Given the description of an element on the screen output the (x, y) to click on. 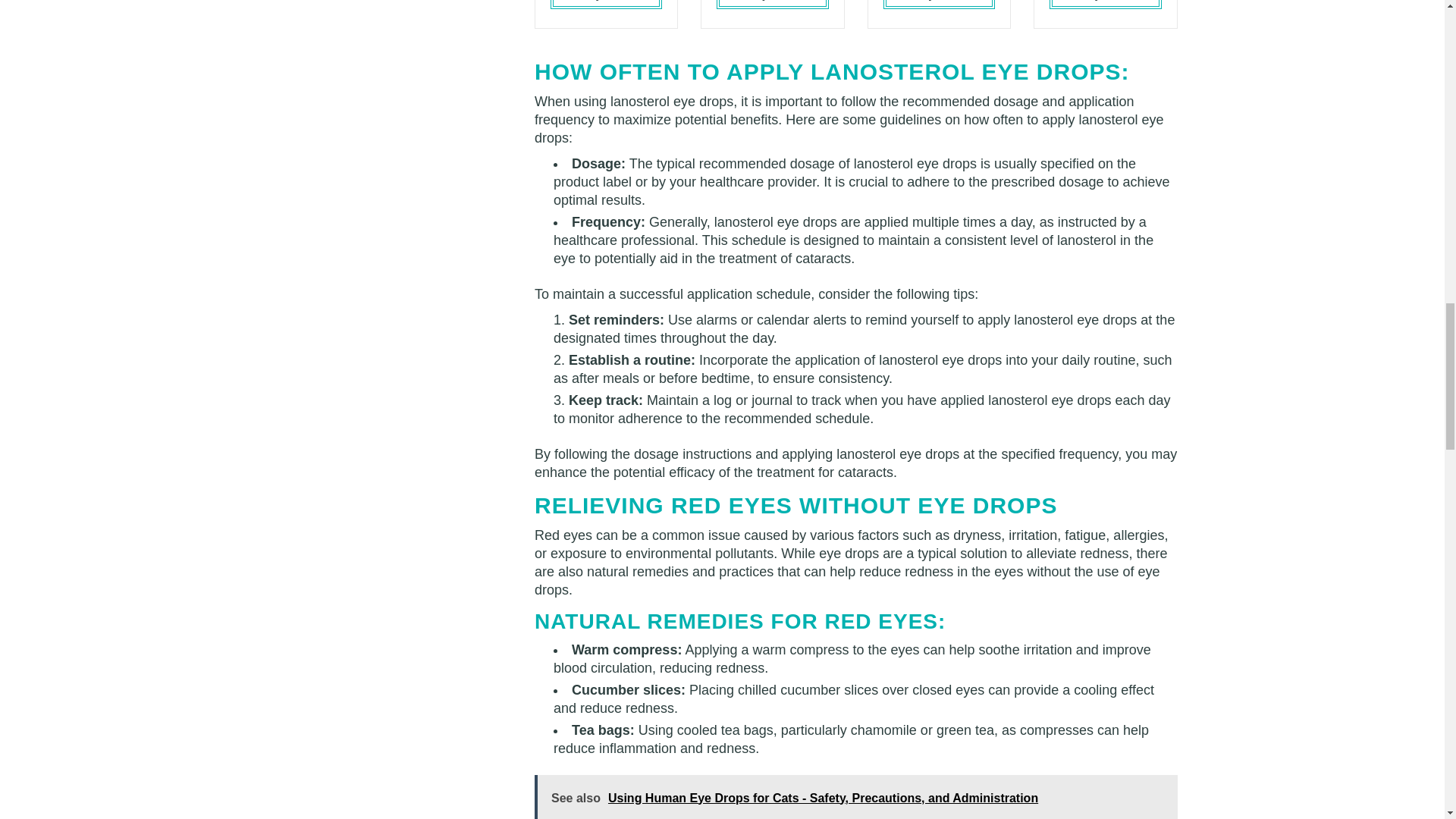
Buy Now (772, 2)
Buy Now (1104, 2)
Buy Now (606, 2)
Buy Now (938, 2)
